Given the description of an element on the screen output the (x, y) to click on. 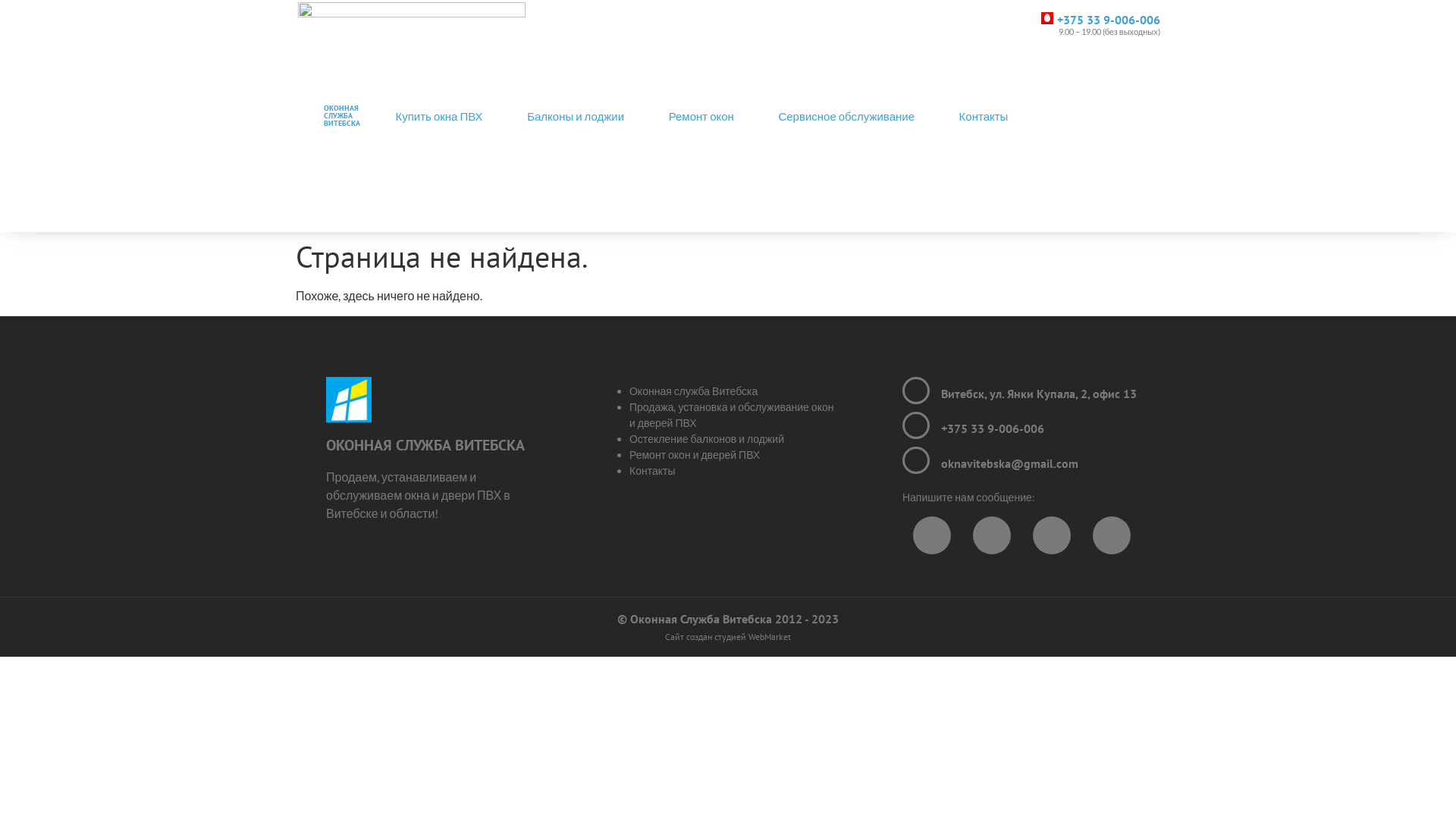
+375 33 9-006-006 Element type: text (1108, 19)
+375 33 9-006-006 Element type: text (992, 428)
